Given the description of an element on the screen output the (x, y) to click on. 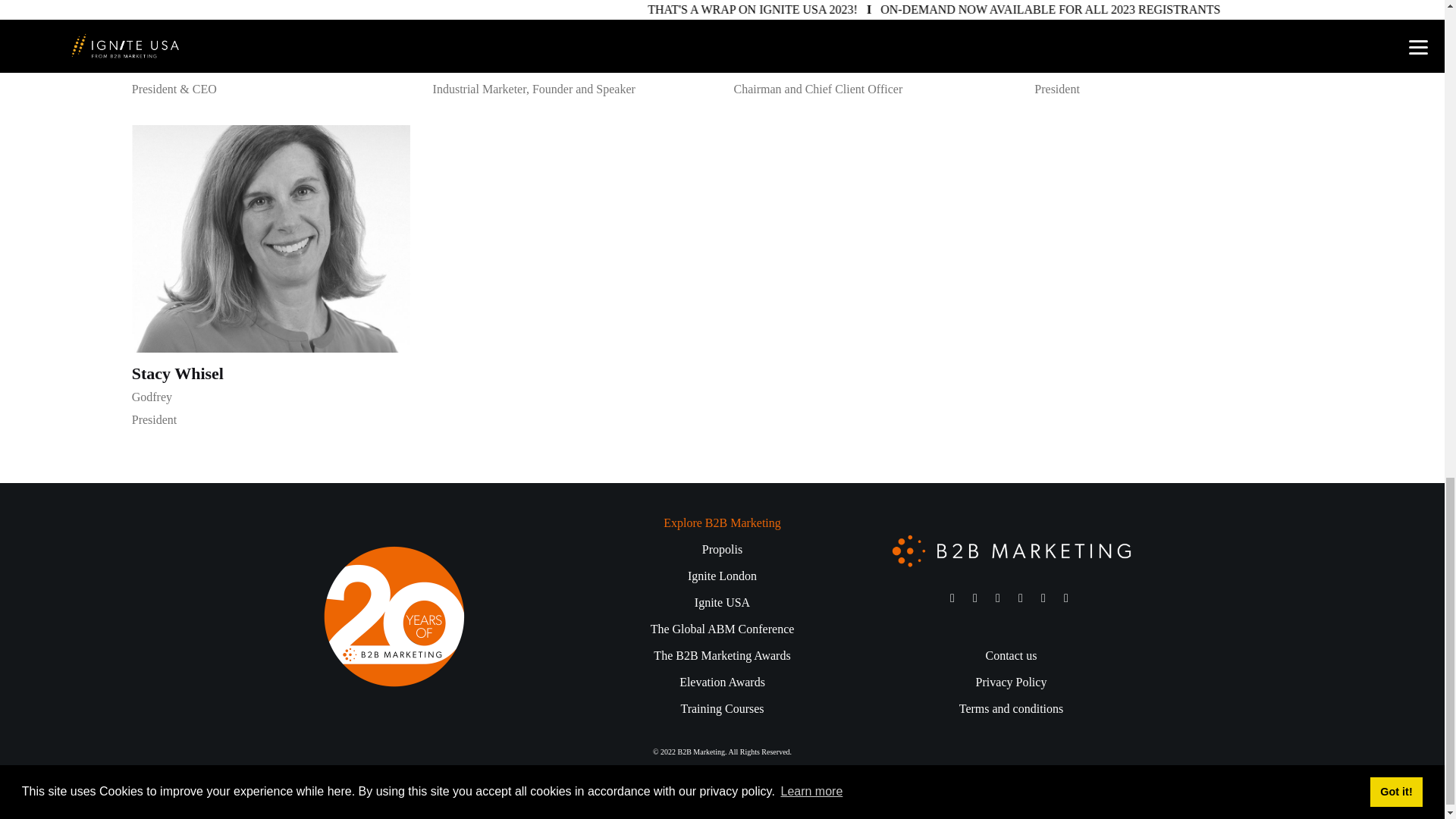
Stacy Whisel (178, 374)
Tony Riley (170, 44)
Speaker Details (571, 11)
Speaker Details (271, 11)
Speaker Details (170, 44)
Speaker Details (472, 44)
Explore B2B Marketing (721, 522)
Tom Stein (769, 44)
Ruth Stevens (1080, 44)
James Soto (472, 44)
